Given the description of an element on the screen output the (x, y) to click on. 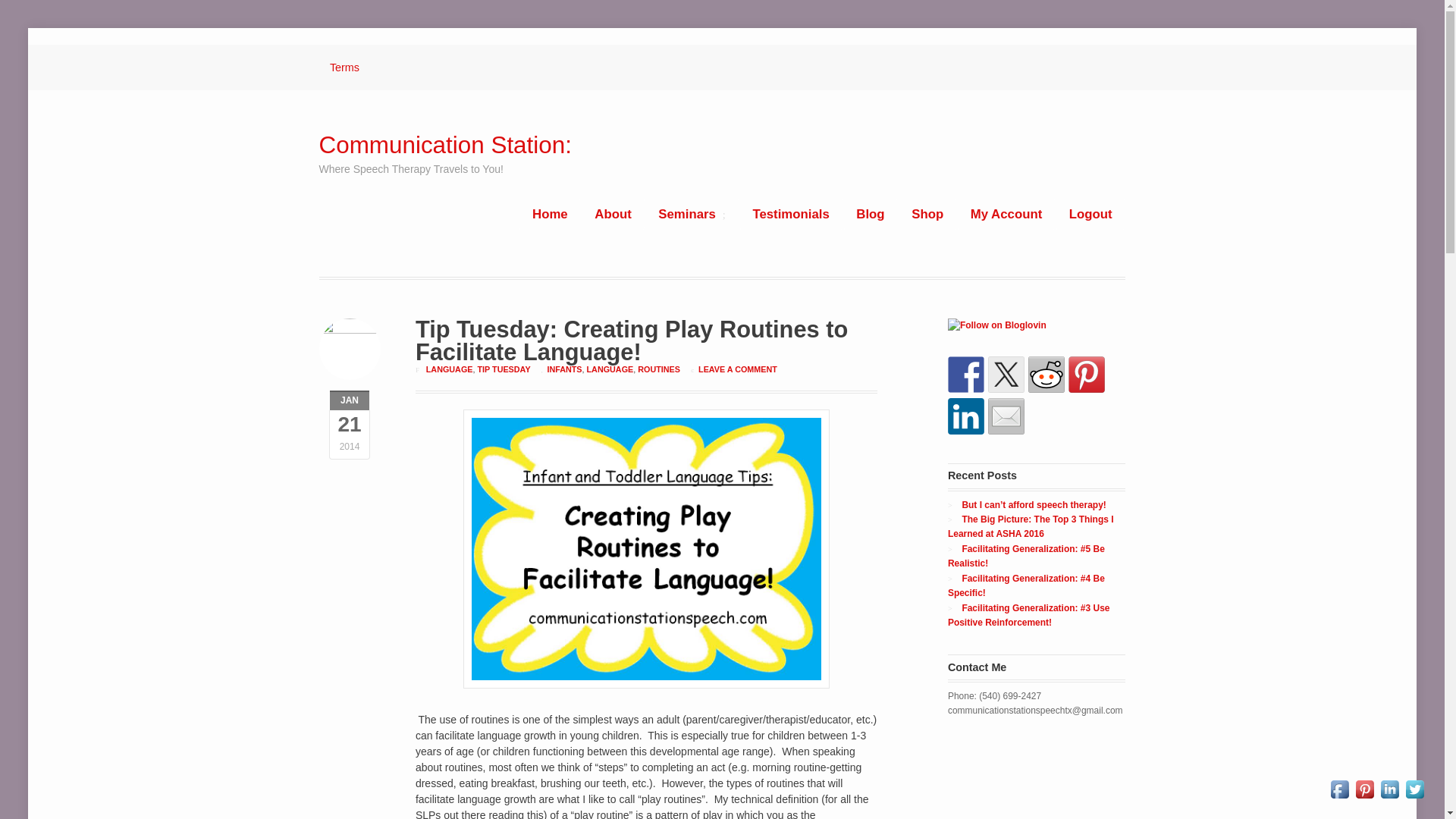
Shop (927, 214)
Pin it with Pinterest (1086, 374)
About (612, 214)
Communication Station: (445, 144)
ROUTINES (658, 368)
Testimonials (791, 214)
LANGUAGE (609, 368)
INFANTS (563, 368)
Share on Twitter (1006, 374)
LANGUAGE (449, 368)
My Account (1005, 214)
Logout (1090, 214)
Home (549, 214)
Share on Linkedin (965, 416)
Terms (344, 67)
